Given the description of an element on the screen output the (x, y) to click on. 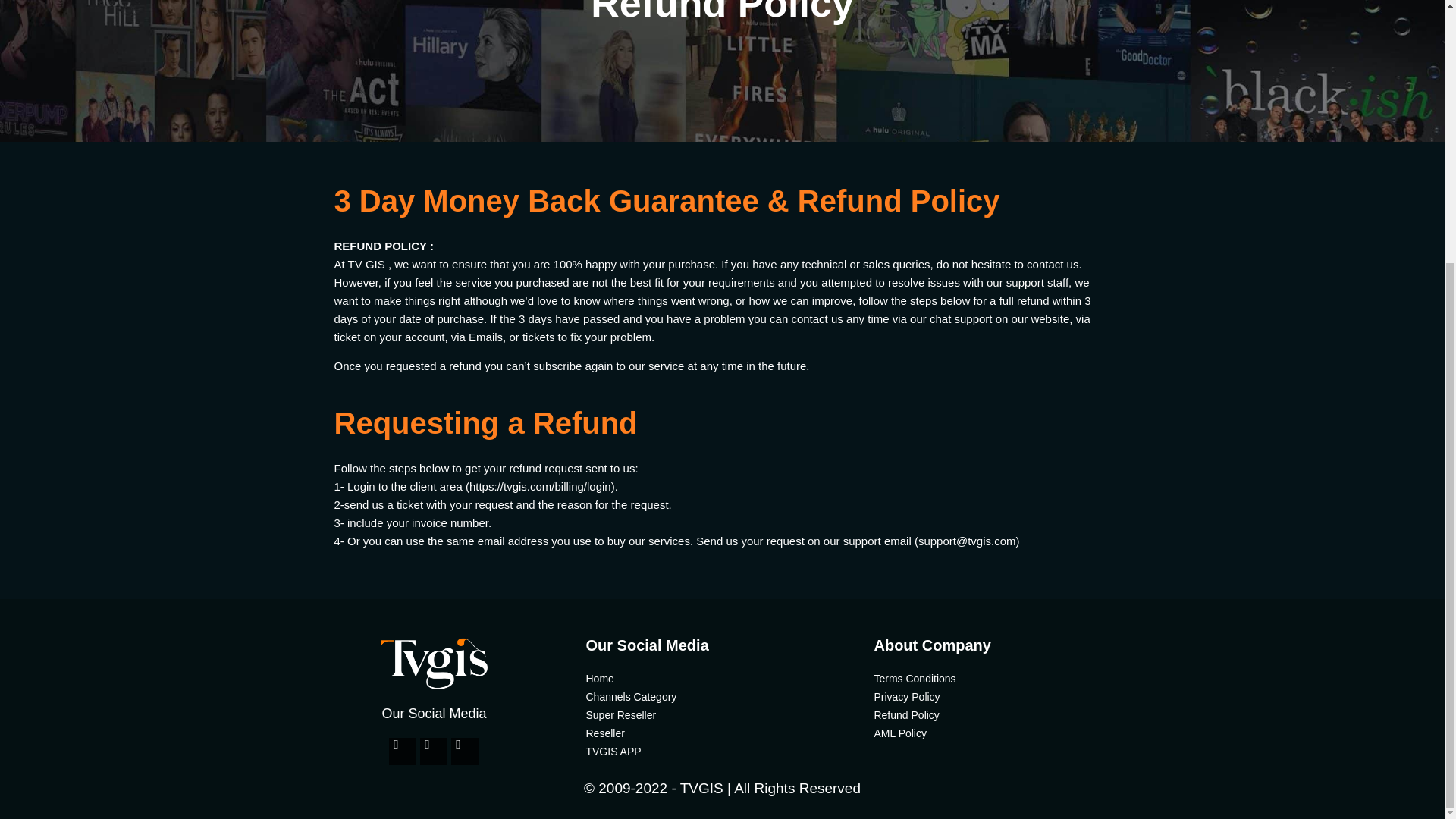
Refund Policy (1010, 714)
TVGIS APP (722, 751)
Super Reseller (722, 714)
AML Policy (1010, 732)
Privacy Policy (1010, 696)
Reseller (722, 732)
Terms Conditions (1010, 678)
Home (722, 678)
Channels Category (722, 696)
